Given the description of an element on the screen output the (x, y) to click on. 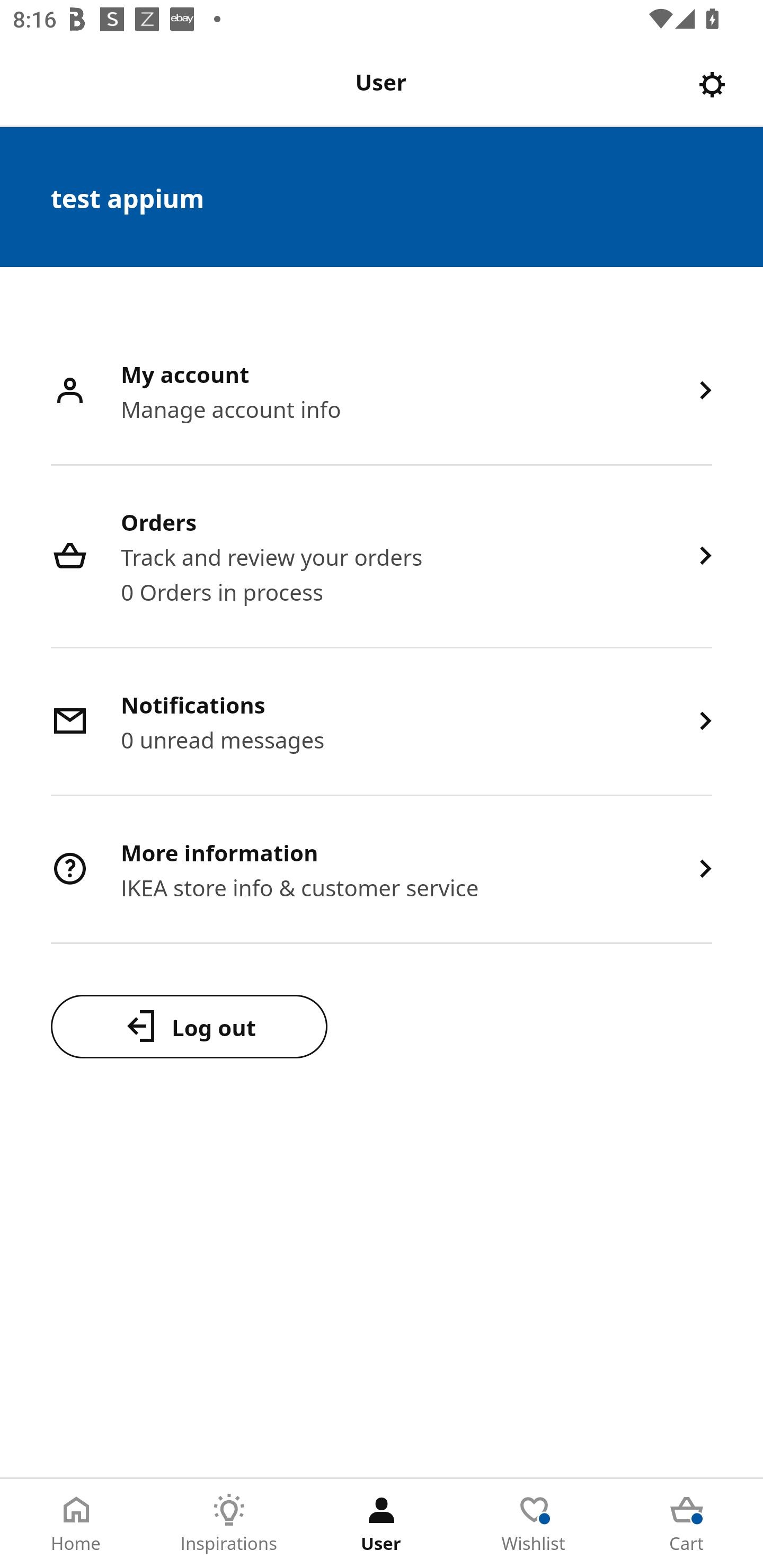
My account
Manage account info (381, 391)
Notifications
0 unread messages (381, 722)
Log out (189, 1026)
Home
Tab 1 of 5 (76, 1522)
Inspirations
Tab 2 of 5 (228, 1522)
User
Tab 3 of 5 (381, 1522)
Wishlist
Tab 4 of 5 (533, 1522)
Cart
Tab 5 of 5 (686, 1522)
